Given the description of an element on the screen output the (x, y) to click on. 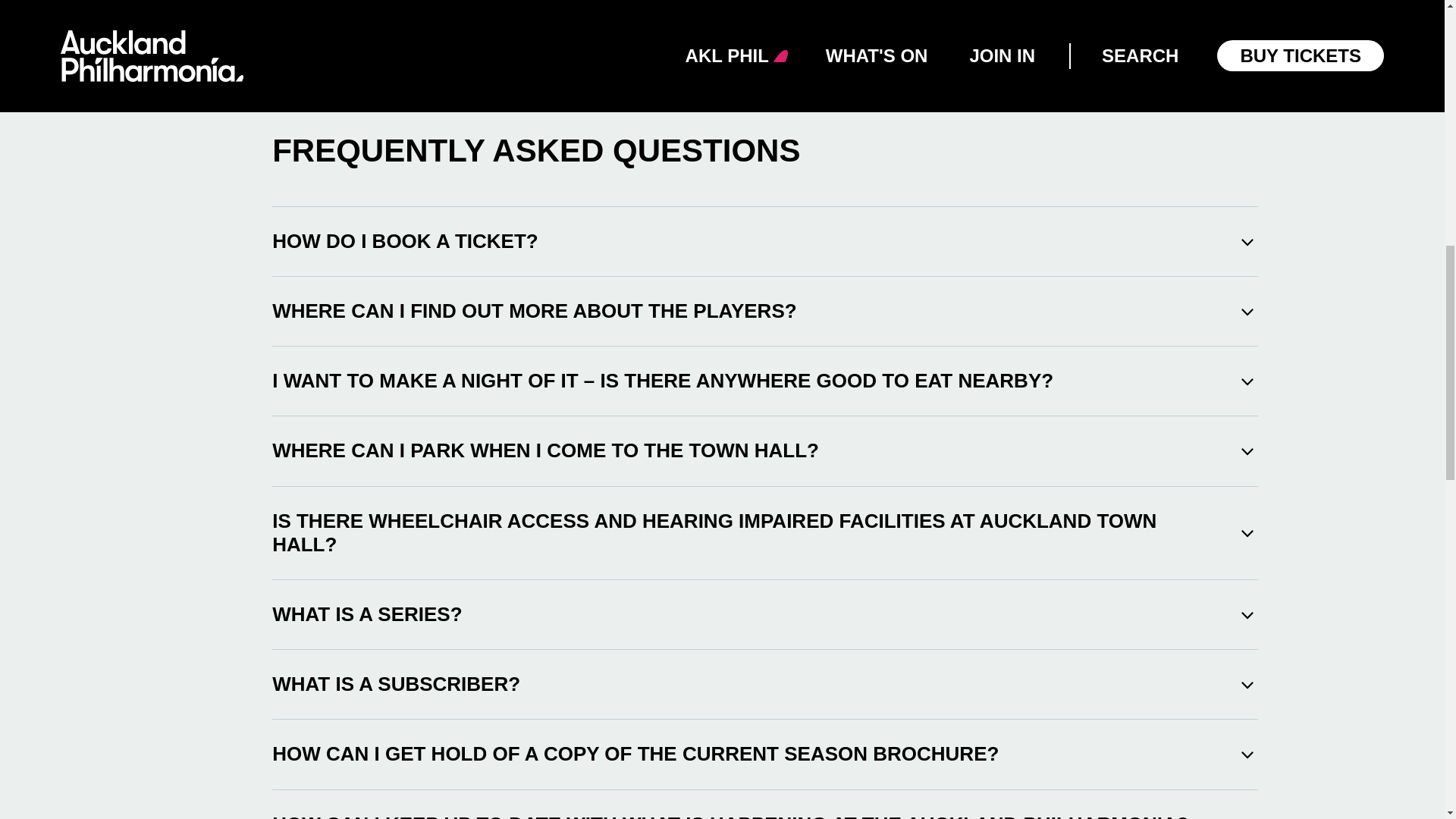
Breadcrumb link to Experience AKL PHIL (378, 0)
Breadcrumb link to Plan Your Visit (491, 0)
Breadcrumb link to Home (288, 0)
